Given the description of an element on the screen output the (x, y) to click on. 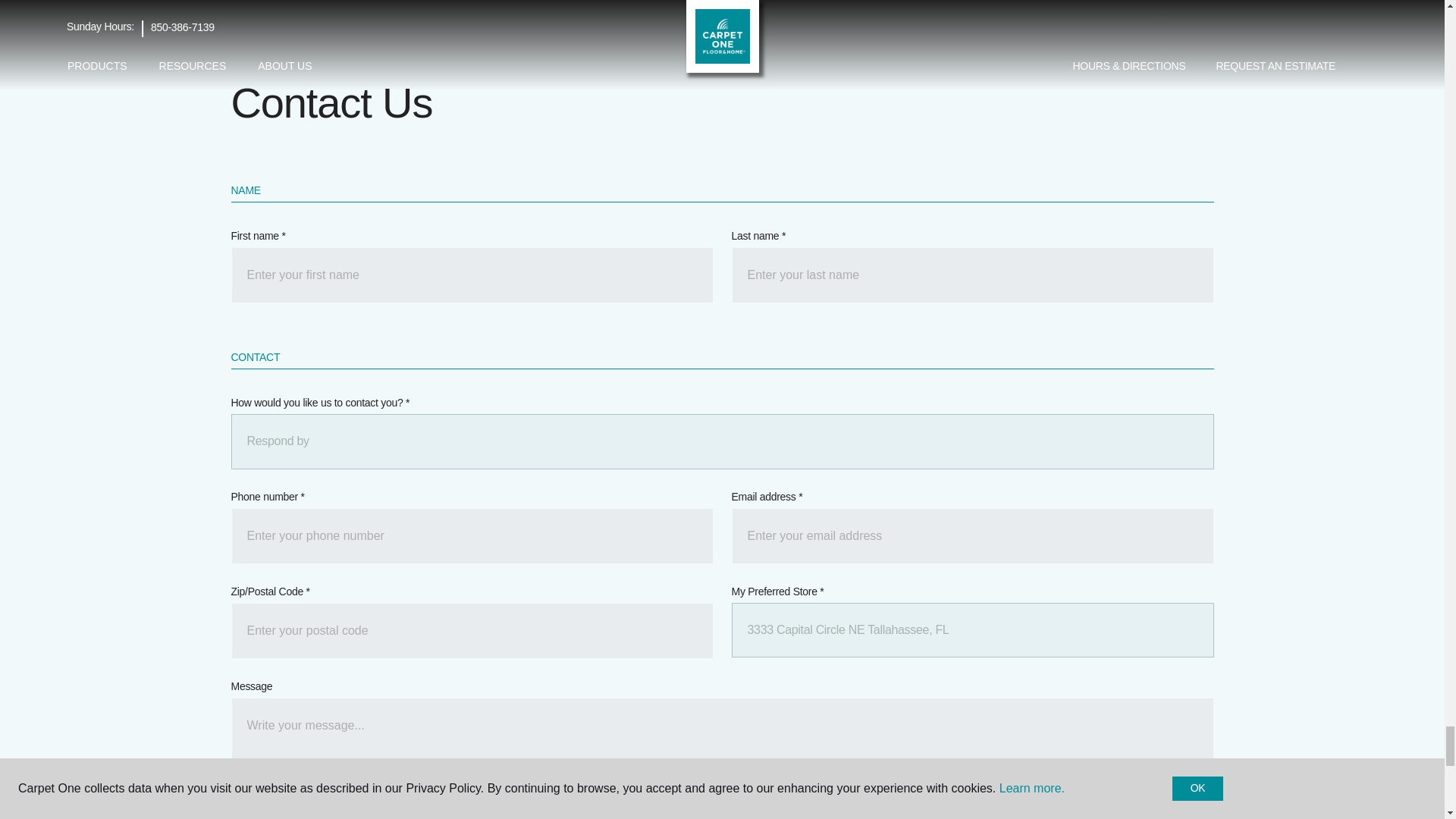
MyMessage (721, 743)
PostalCode (471, 630)
CleanHomePhone (471, 535)
EmailAddress (971, 535)
FirstName (471, 275)
LastName (971, 275)
